Given the description of an element on the screen output the (x, y) to click on. 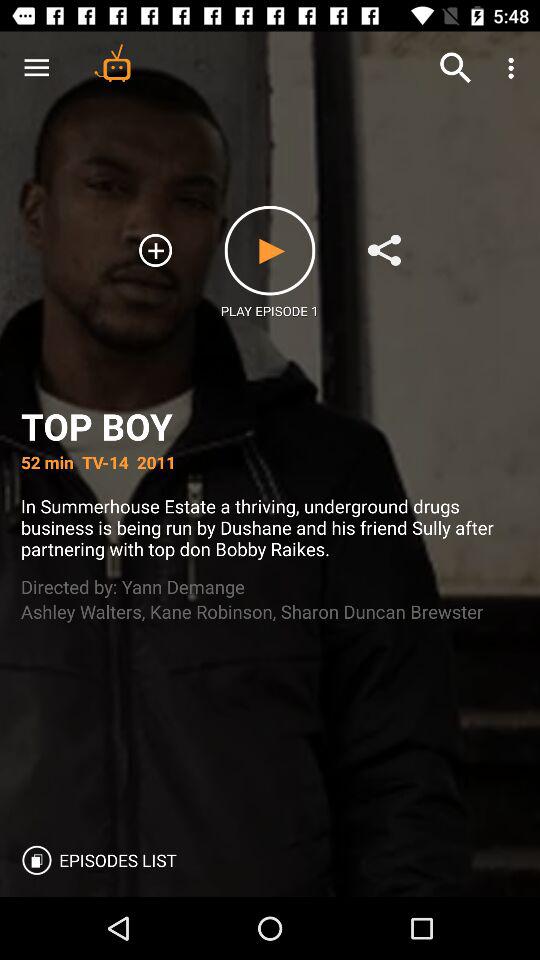
share episode (383, 250)
